Given the description of an element on the screen output the (x, y) to click on. 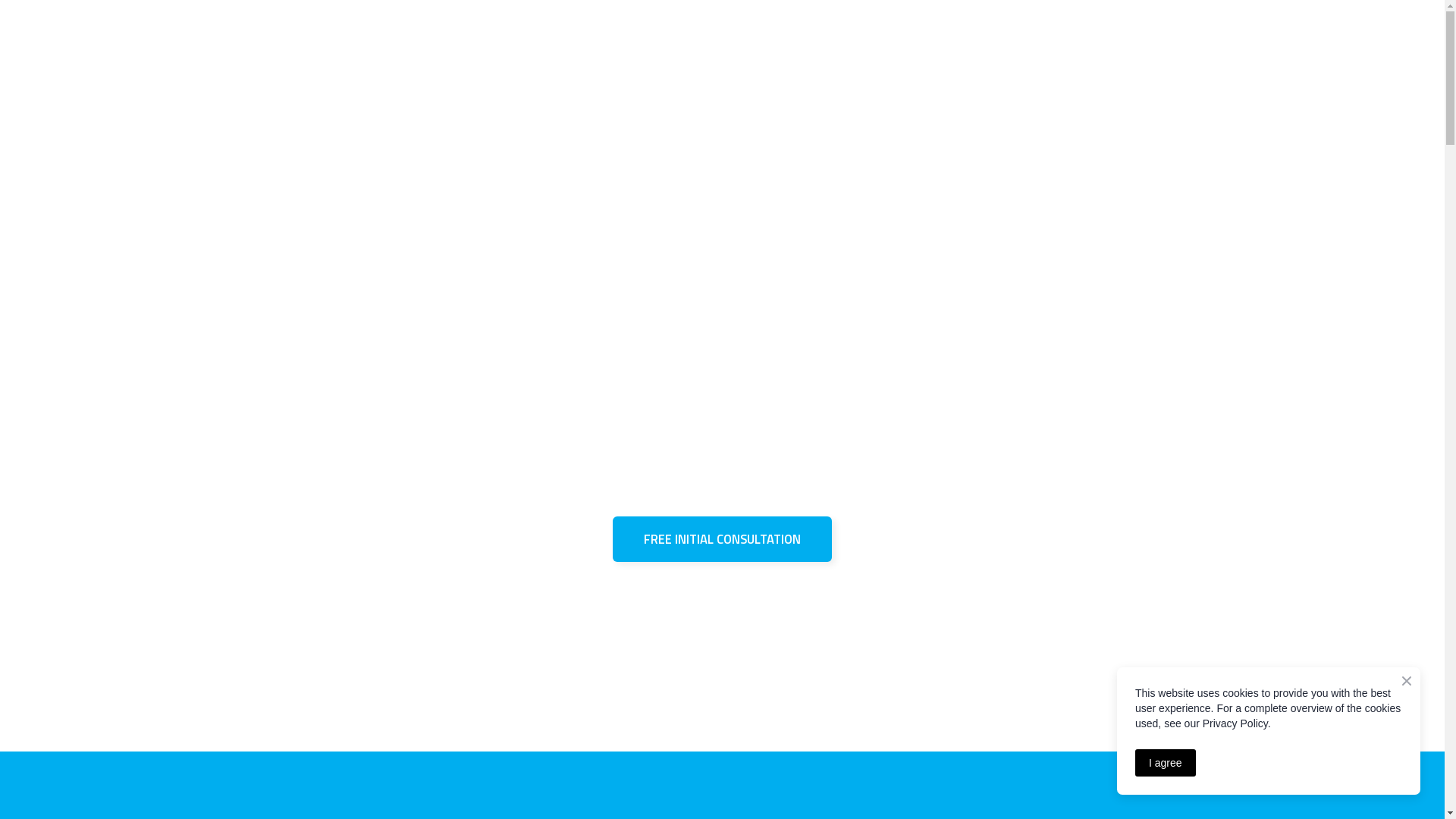
Hot Topics Element type: text (821, 114)
Do You Qualify Element type: text (737, 114)
FREE INITIAL CONSULTATION Element type: text (721, 538)
1-888-737-2479 Element type: text (966, 48)
1-306-206-2191 Element type: text (1100, 48)
Contact us Element type: text (894, 114)
I agree Element type: text (1165, 762)
